Given the description of an element on the screen output the (x, y) to click on. 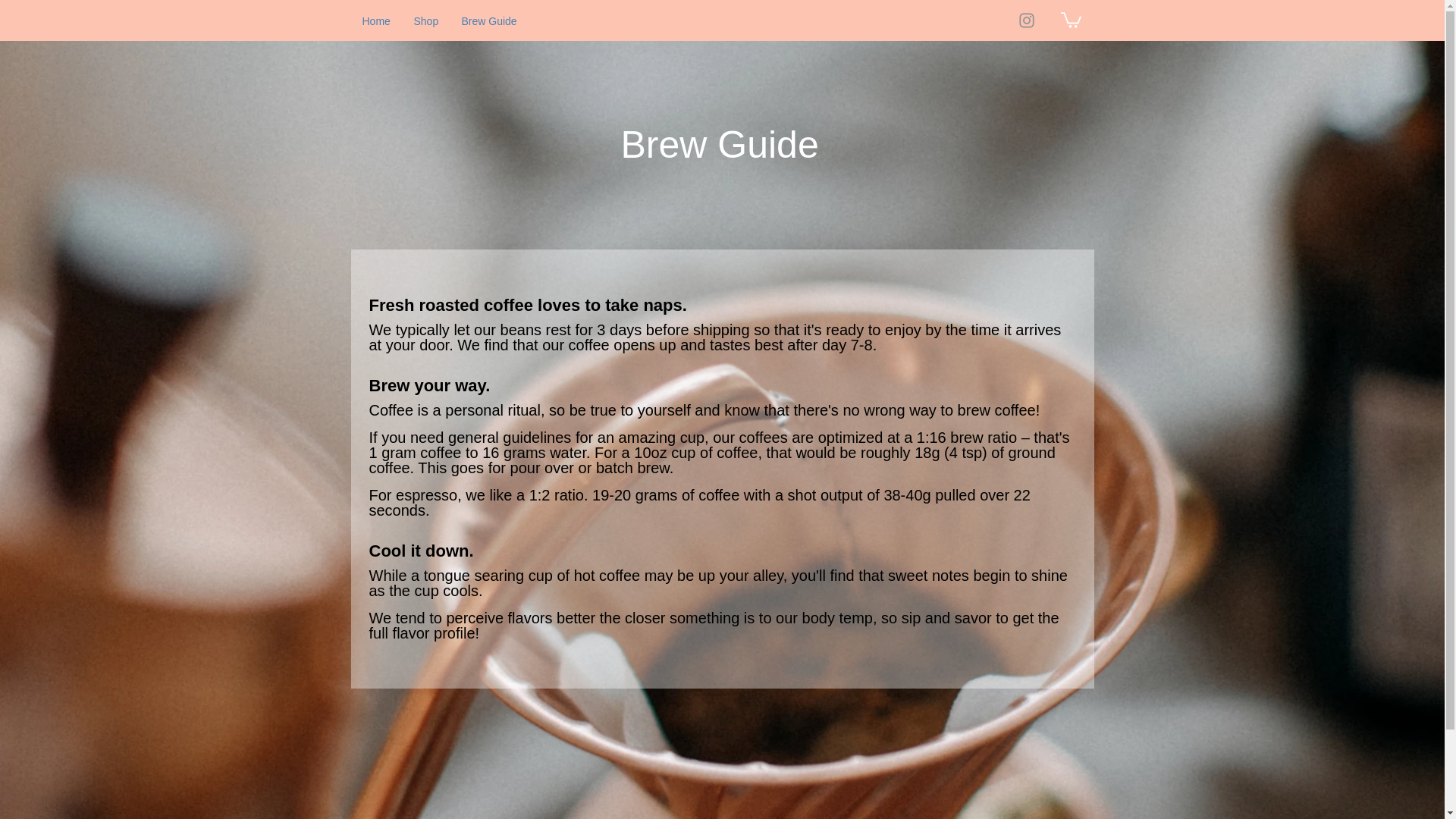
Brew Guide (489, 19)
Home (375, 19)
Shop (425, 19)
